Given the description of an element on the screen output the (x, y) to click on. 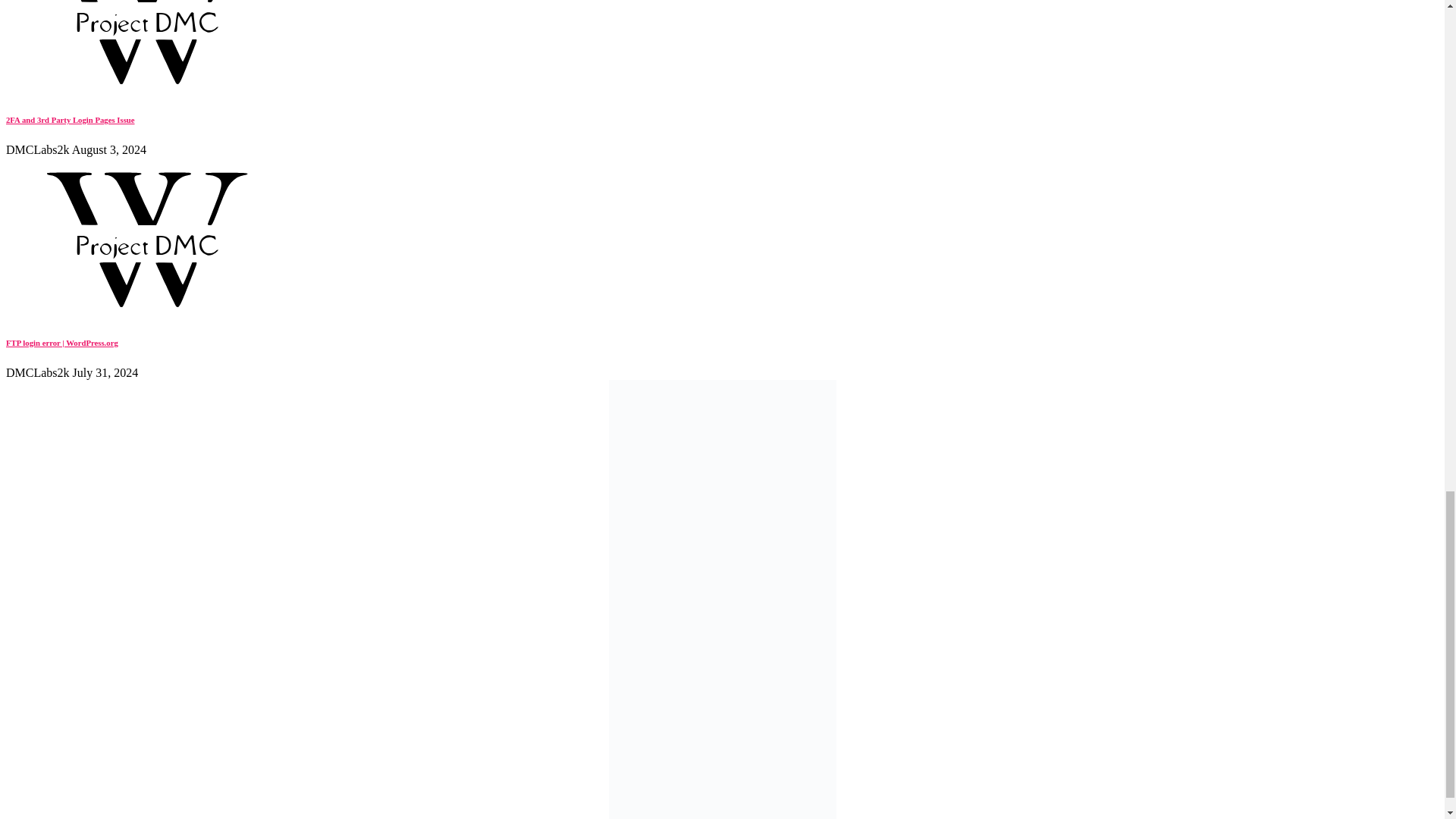
2FA and 3rd Party Login Pages Issue (70, 119)
2FA and 3rd Party Login Pages Issue (146, 88)
